Given the description of an element on the screen output the (x, y) to click on. 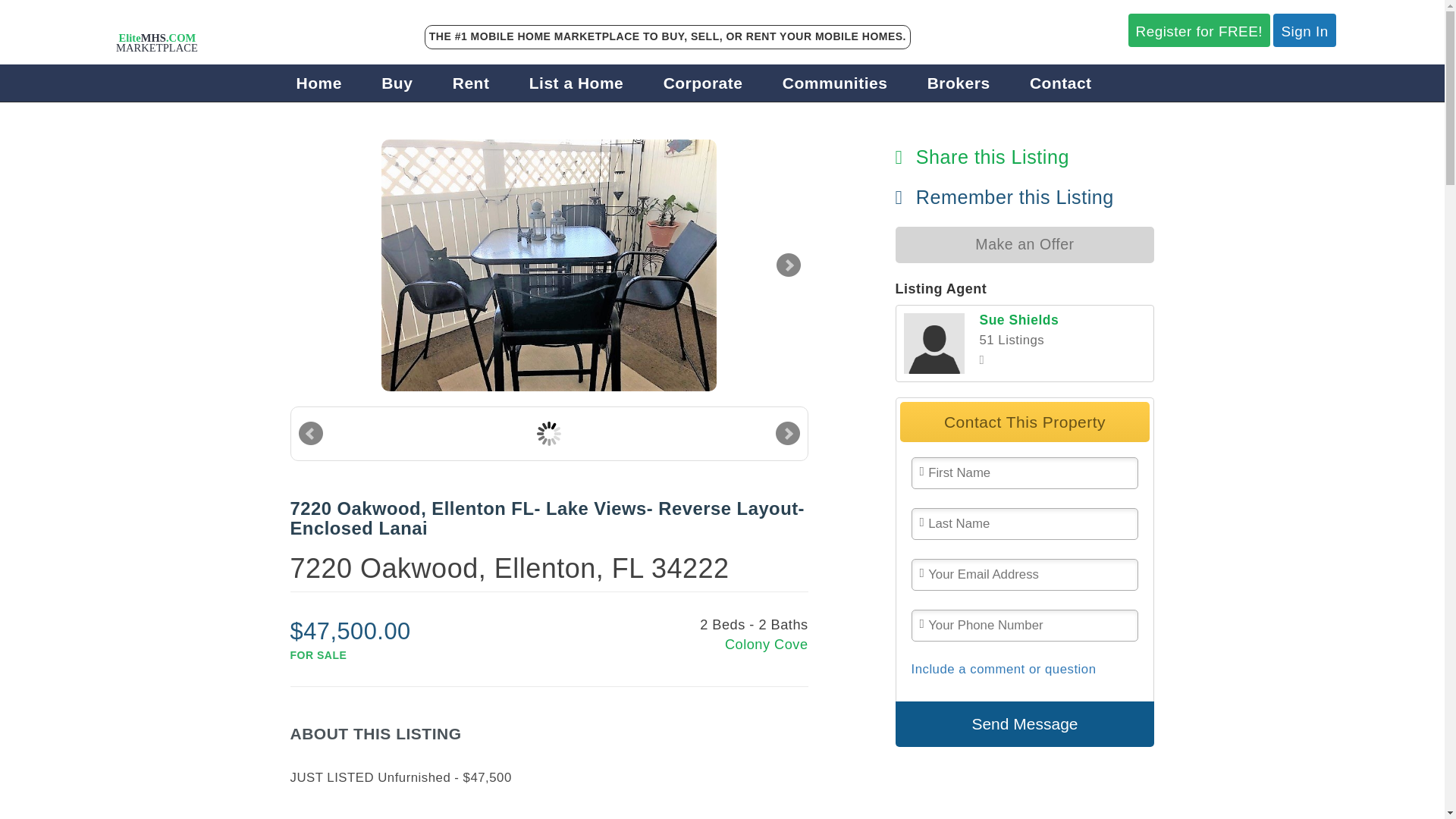
Buy (396, 82)
Sign In (1303, 29)
Corporate (703, 82)
Register for FREE! (1199, 29)
Home (319, 82)
Communities (835, 82)
Rent (470, 82)
Brokers (958, 82)
List a Home (577, 82)
Sue Shields (933, 342)
